Given the description of an element on the screen output the (x, y) to click on. 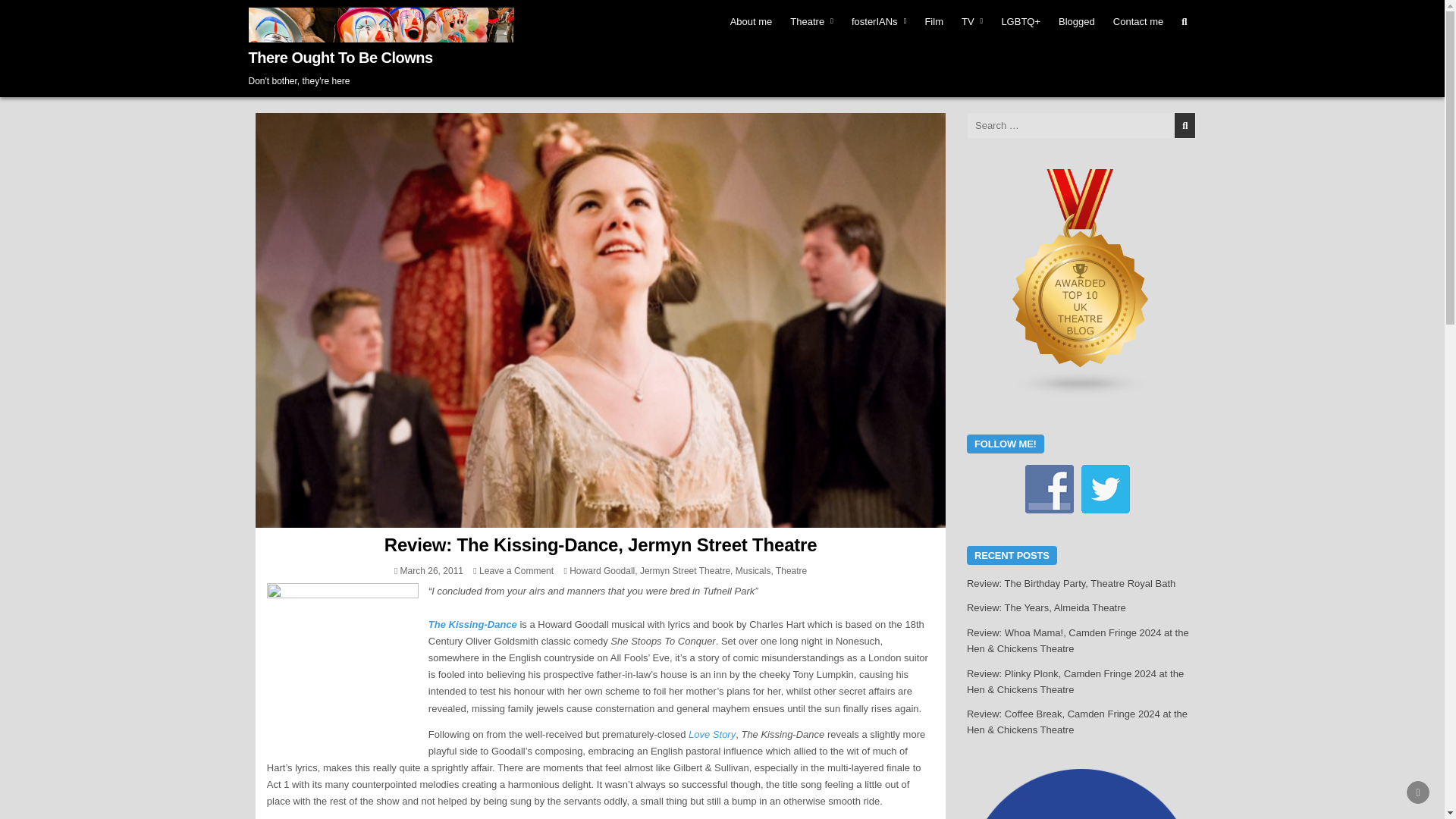
Theatre (811, 21)
SCROLL TO TOP (1417, 792)
There Ought To Be Clowns (340, 57)
About me (750, 21)
